Given the description of an element on the screen output the (x, y) to click on. 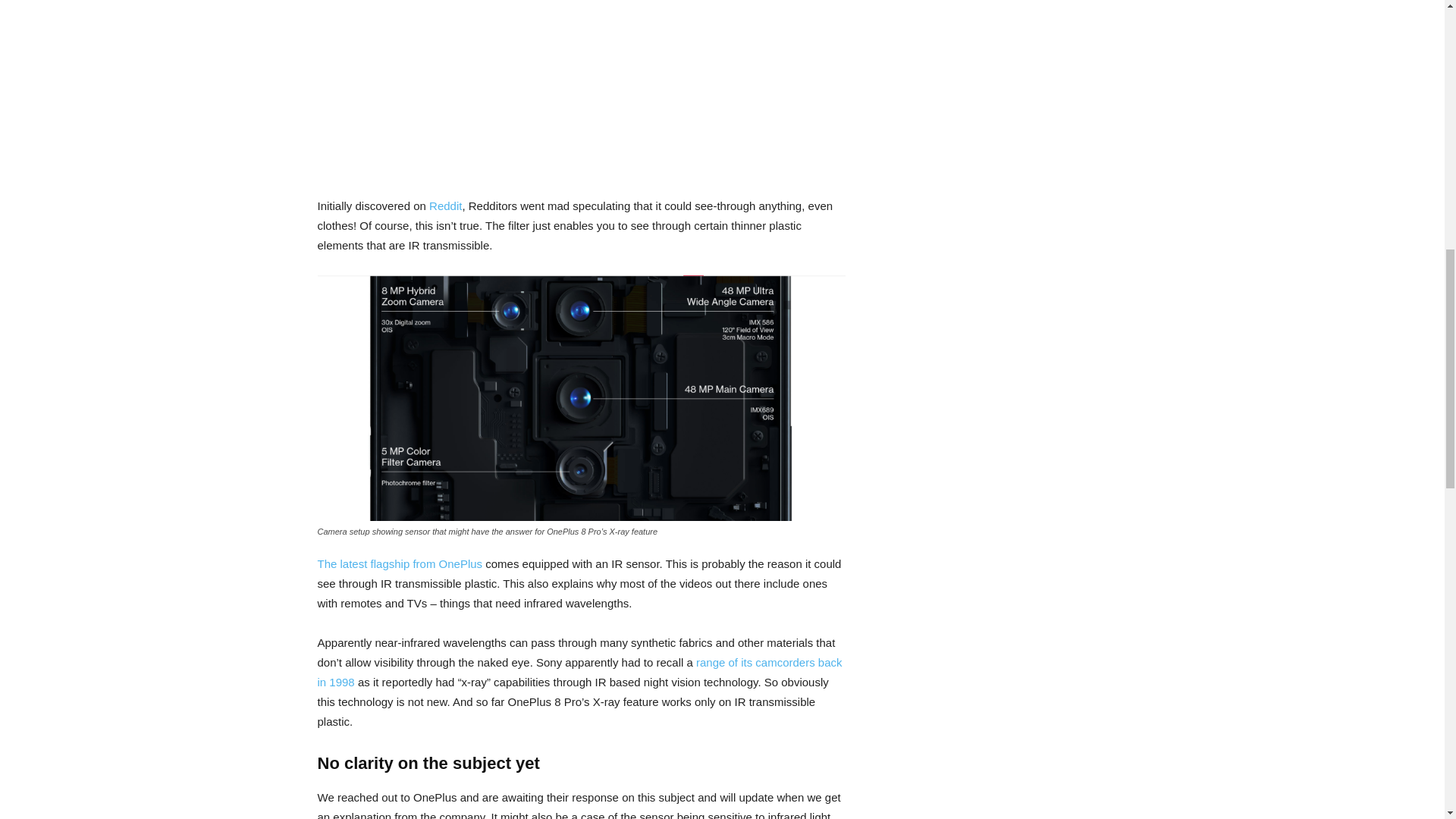
OnePlus 8 Pro X-Ray Vision Mode Uncovered... (580, 85)
The latest flagship from OnePlus (399, 563)
Reddit (445, 205)
range of its camcorders back in 1998 (579, 672)
